Given the description of an element on the screen output the (x, y) to click on. 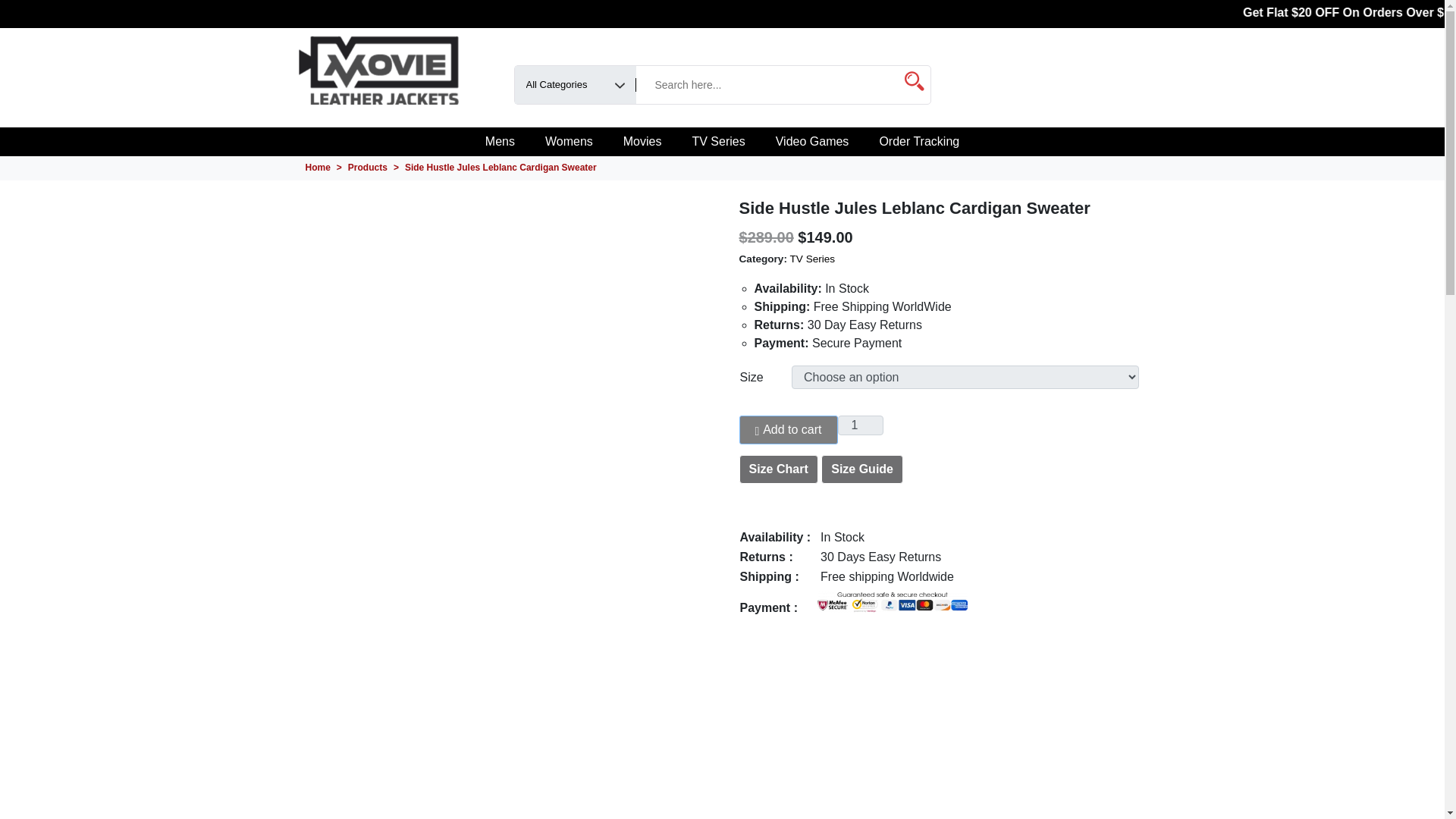
Order Tracking (918, 141)
Mens (499, 141)
1 (860, 424)
Movies (642, 141)
Video Games (812, 141)
Womens (568, 141)
TV Series (718, 141)
